Given the description of an element on the screen output the (x, y) to click on. 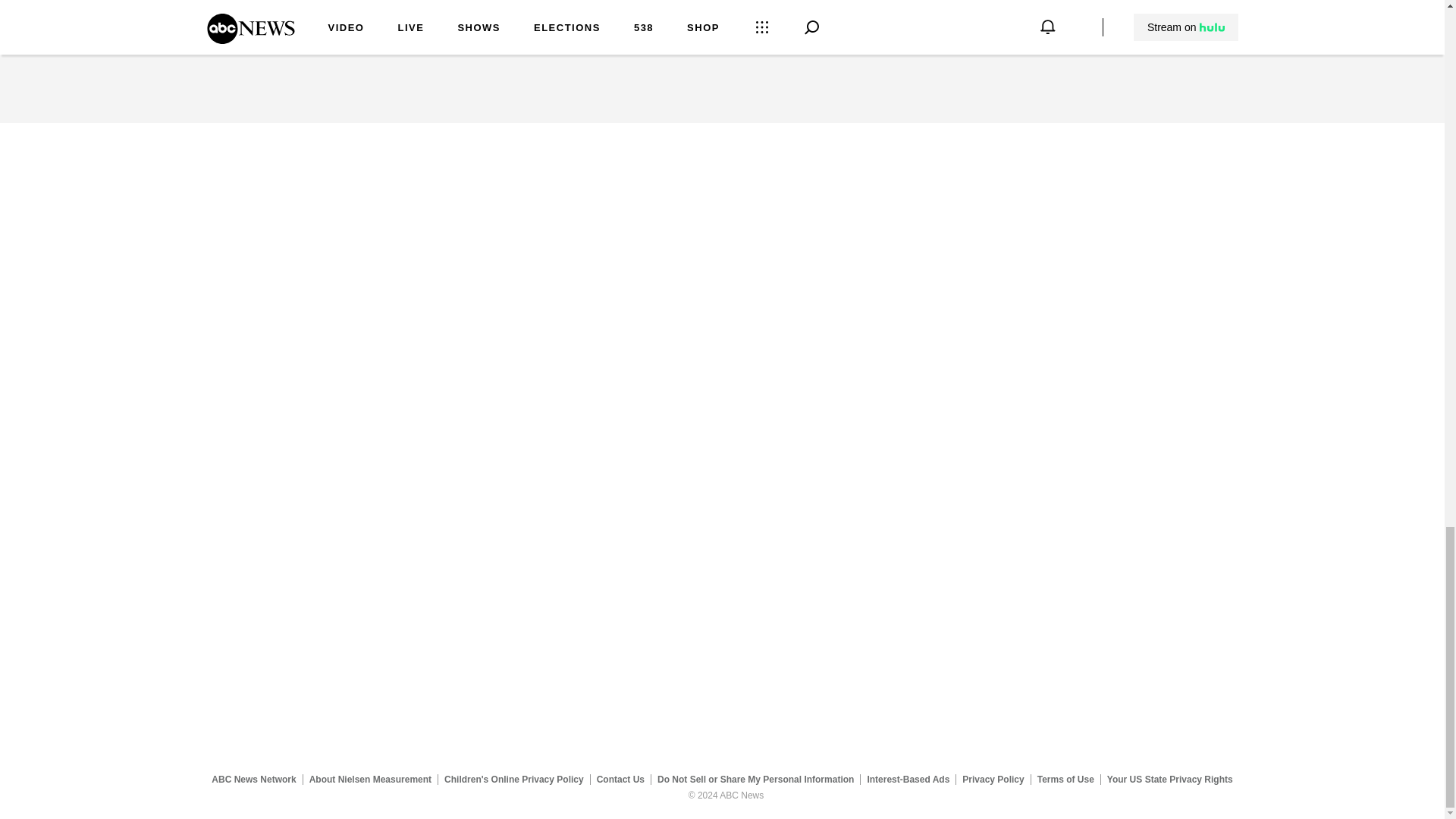
About Nielsen Measurement (370, 778)
Interest-Based Ads (908, 778)
ABC News Network (253, 778)
Terms of Use (1065, 778)
Do Not Sell or Share My Personal Information (755, 778)
Your US State Privacy Rights (1169, 778)
Contact Us (620, 778)
Privacy Policy (993, 778)
Children's Online Privacy Policy (514, 778)
